Given the description of an element on the screen output the (x, y) to click on. 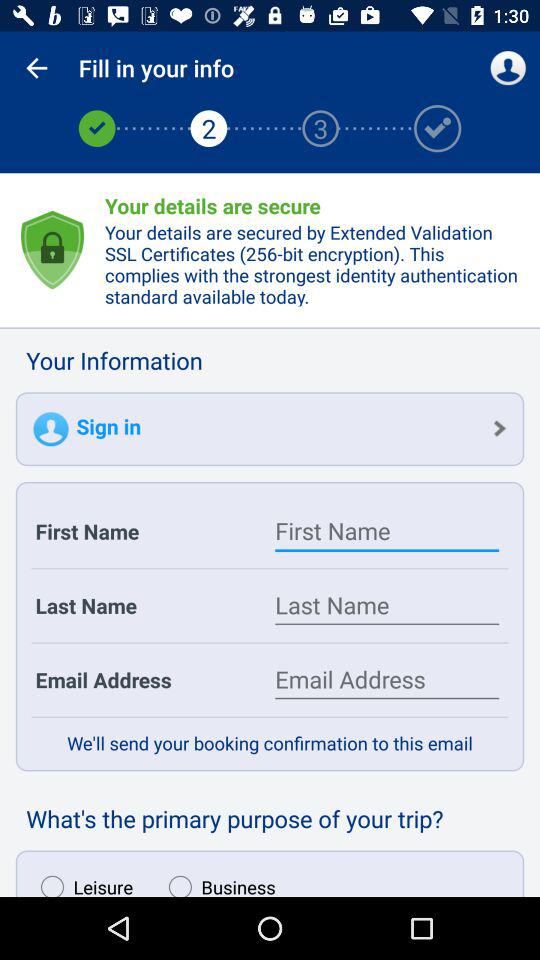
jump until the leisure (82, 881)
